Given the description of an element on the screen output the (x, y) to click on. 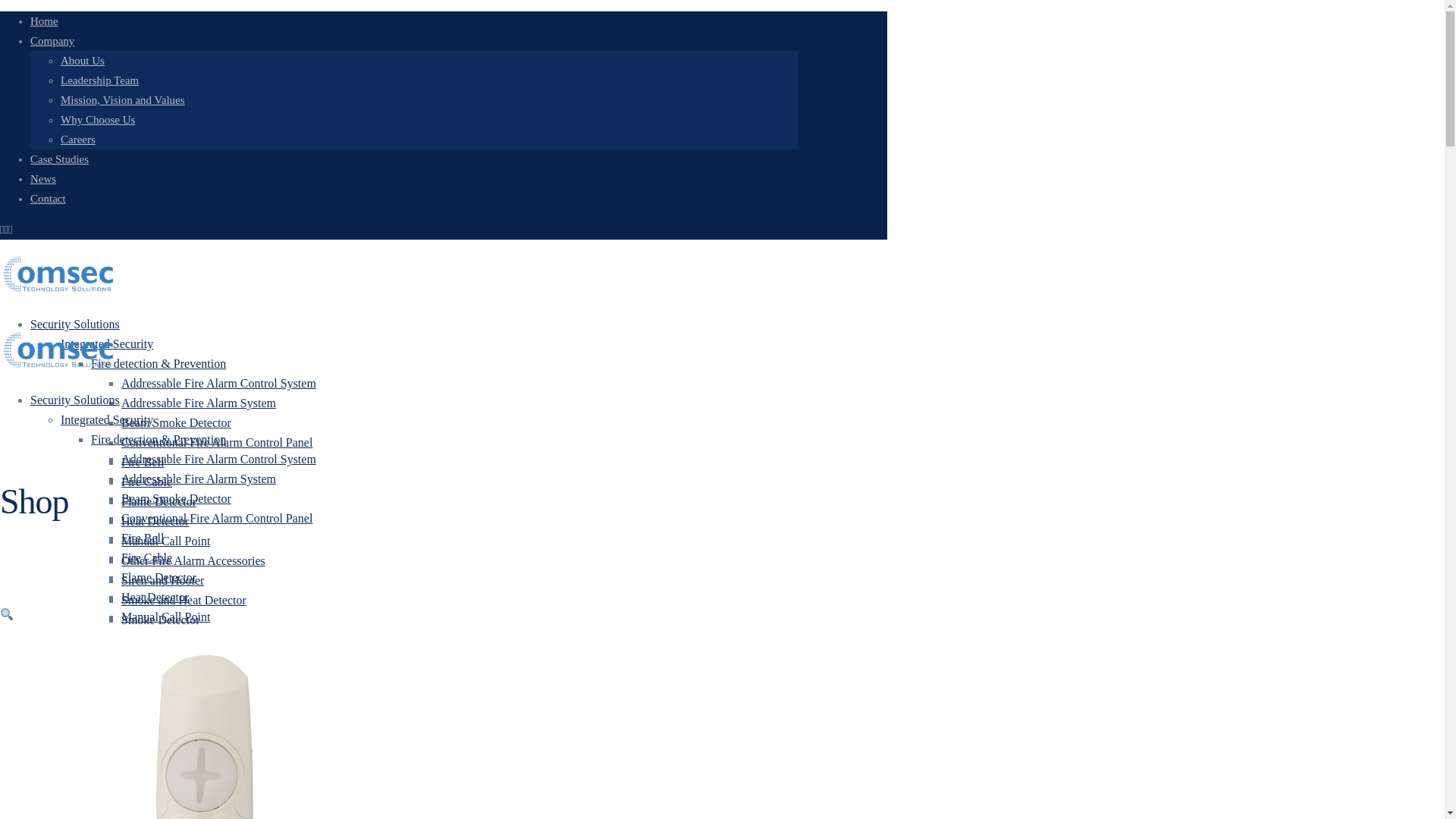
Integrated Security (106, 343)
Case Studies (59, 159)
Contact (47, 198)
AHD (134, 738)
Switches (173, 717)
Smoke Detector (160, 619)
Careers (78, 139)
CCTV AHD Cameras (204, 757)
Flame Detector (158, 501)
Why Choose Us (98, 119)
Siren and Hooter (161, 580)
Leadership Team (99, 80)
CCTV AHD DVR (196, 777)
Smoke and Heat Detector (183, 599)
Mission, Vision and Values (122, 100)
